Given the description of an element on the screen output the (x, y) to click on. 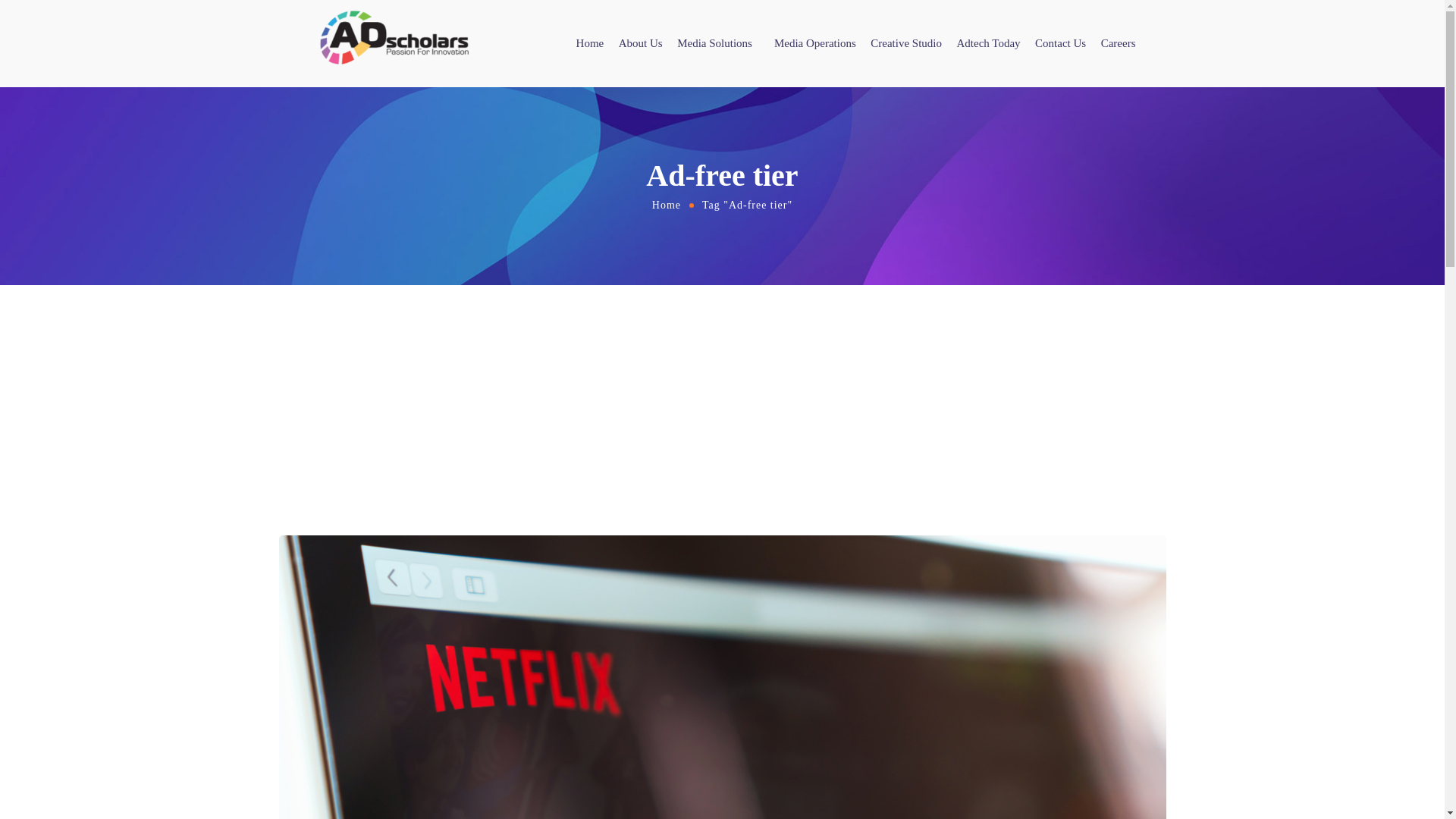
Adtech Today (988, 43)
Media Operations (815, 43)
Home (665, 204)
Creative Studio (906, 43)
Media Solutions (717, 43)
Contact Us (1060, 43)
